Given the description of an element on the screen output the (x, y) to click on. 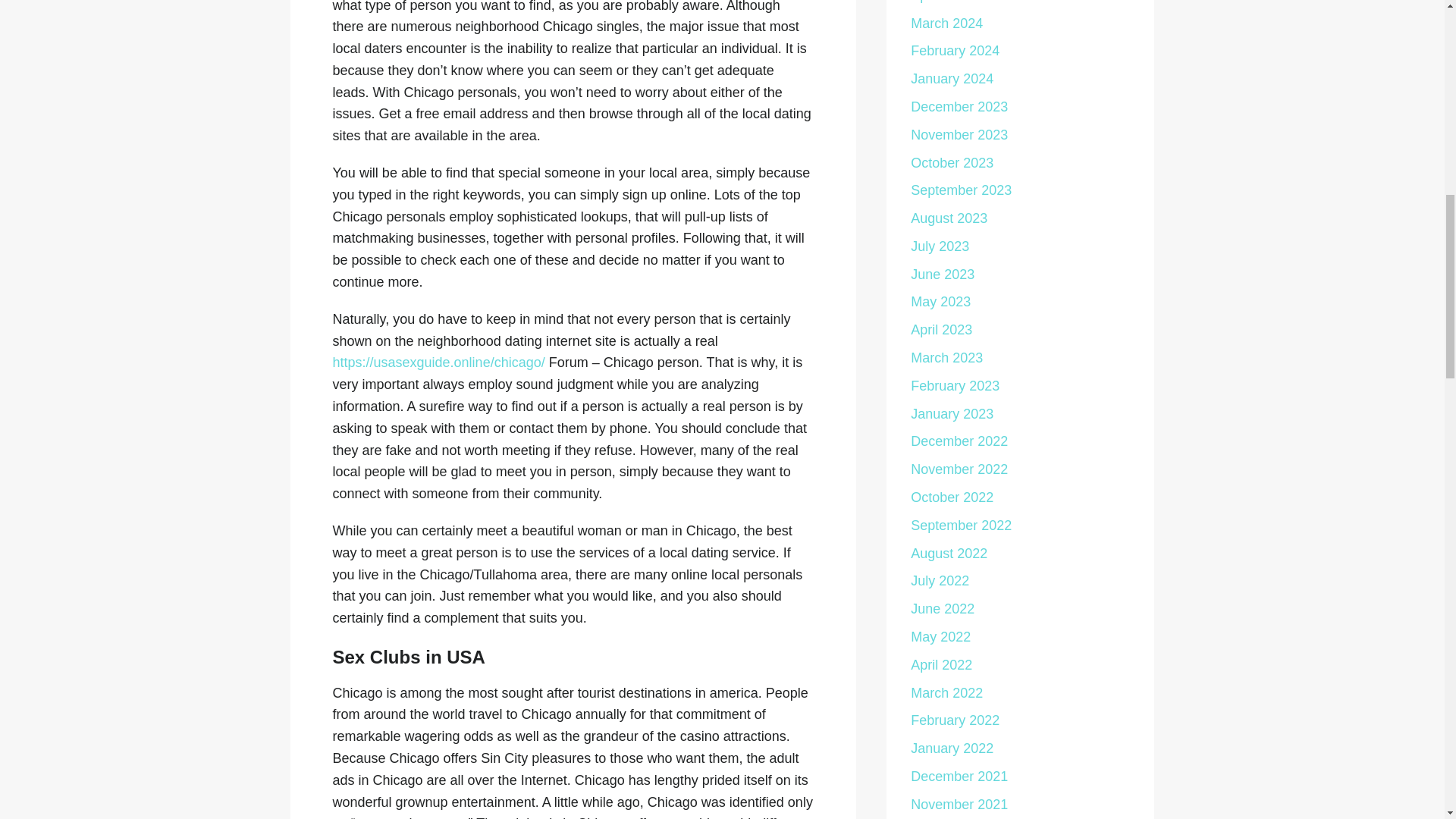
November 2022 (959, 468)
October 2023 (951, 161)
December 2023 (959, 106)
June 2023 (942, 273)
April 2023 (941, 329)
April 2024 (941, 1)
March 2024 (946, 23)
December 2022 (959, 441)
August 2023 (949, 218)
July 2023 (940, 246)
